Given the description of an element on the screen output the (x, y) to click on. 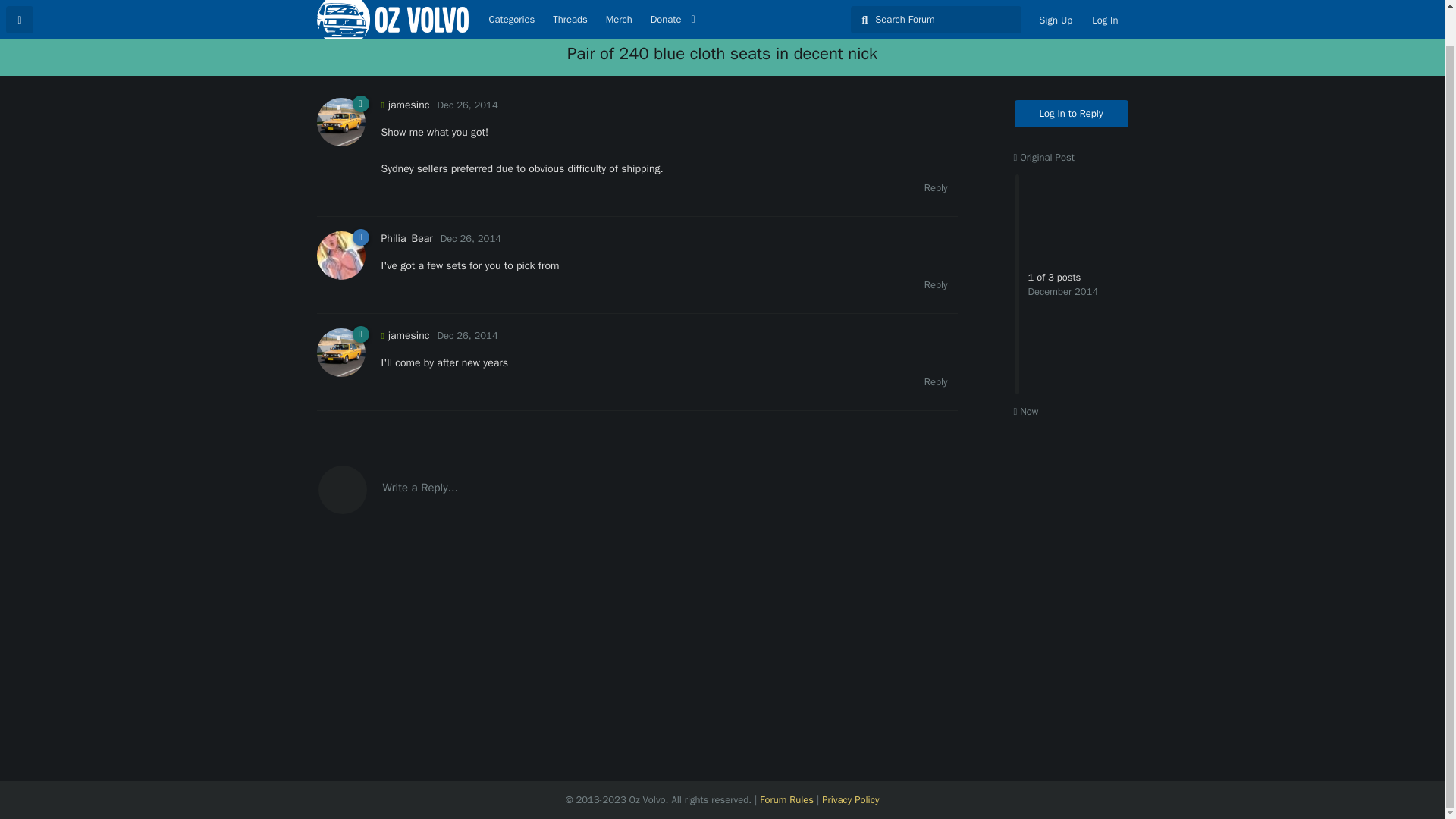
Wanted (719, 21)
Privacy Policy (850, 799)
Original Post (1043, 156)
Cars and parts wanted by Oz Volvo members (719, 21)
Reply (936, 381)
Reply (936, 187)
Write a Reply... (636, 487)
Dec 26, 2014 (466, 335)
jamesinc (404, 335)
jamesinc (404, 104)
